Given the description of an element on the screen output the (x, y) to click on. 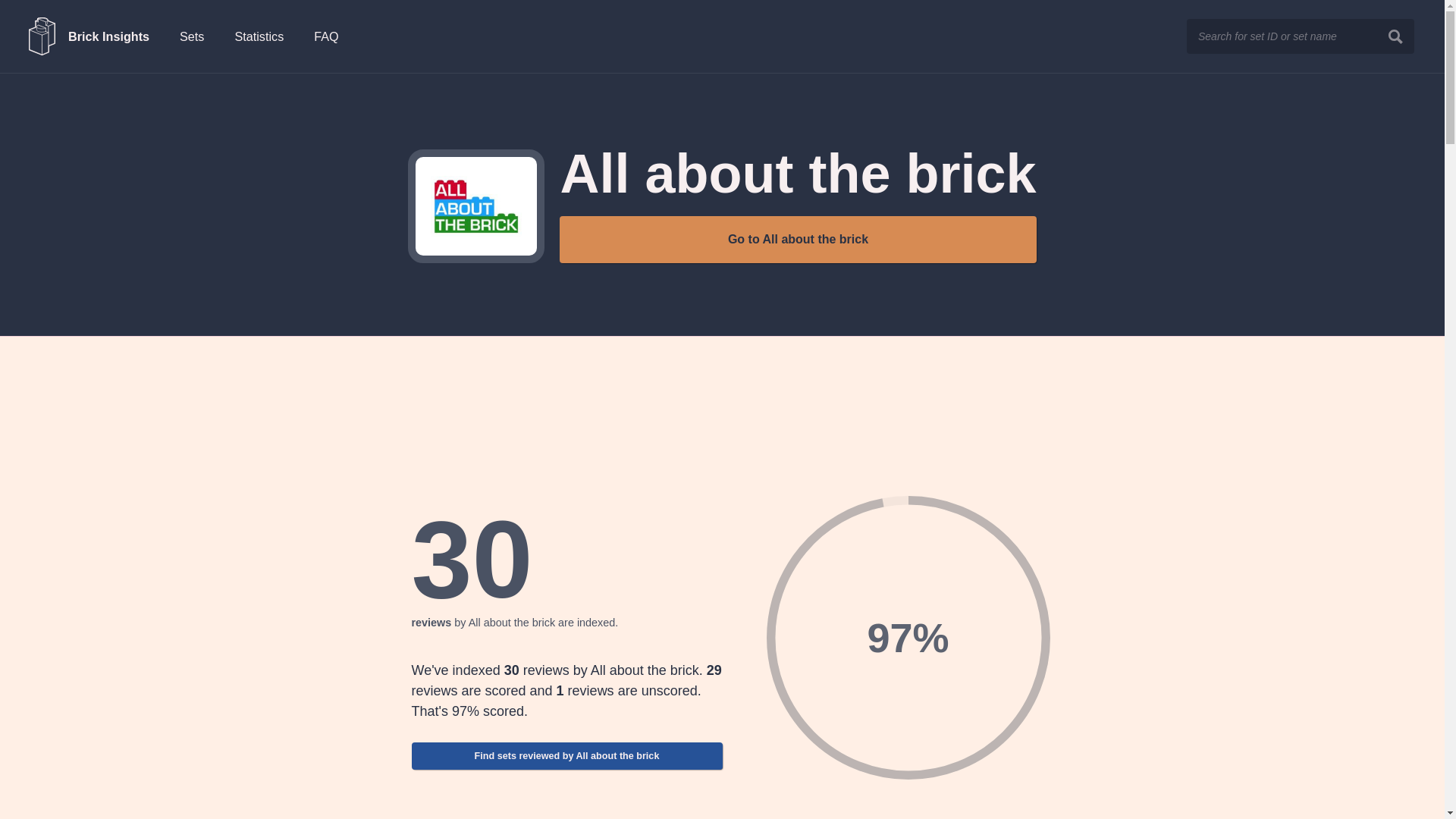
Search (1395, 36)
Statistics (258, 36)
Go to All about the brick (797, 239)
Brick Insights (89, 36)
Find sets reviewed by All about the brick (566, 755)
